Given the description of an element on the screen output the (x, y) to click on. 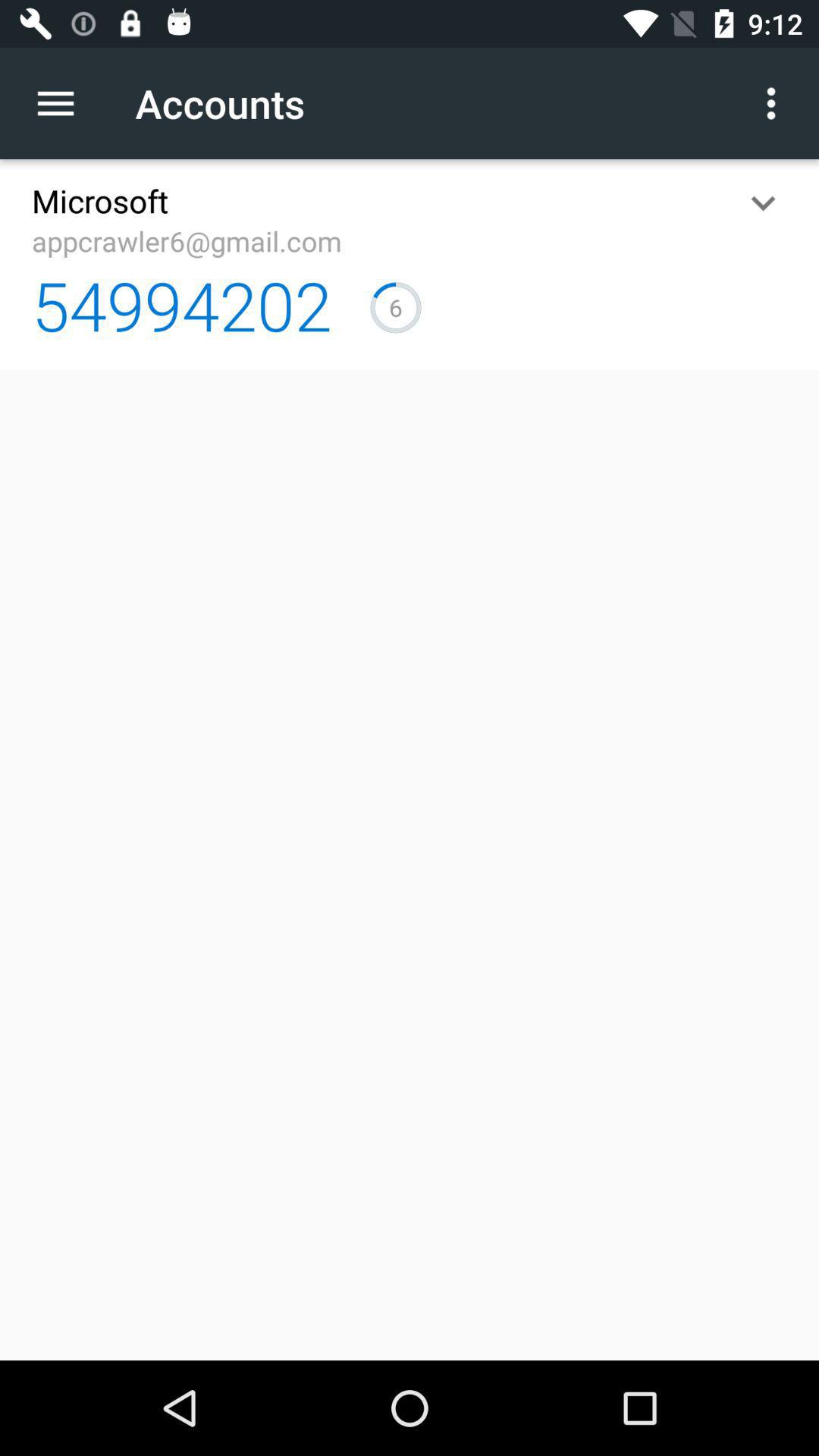
choose app above the 54994202 item (186, 240)
